Given the description of an element on the screen output the (x, y) to click on. 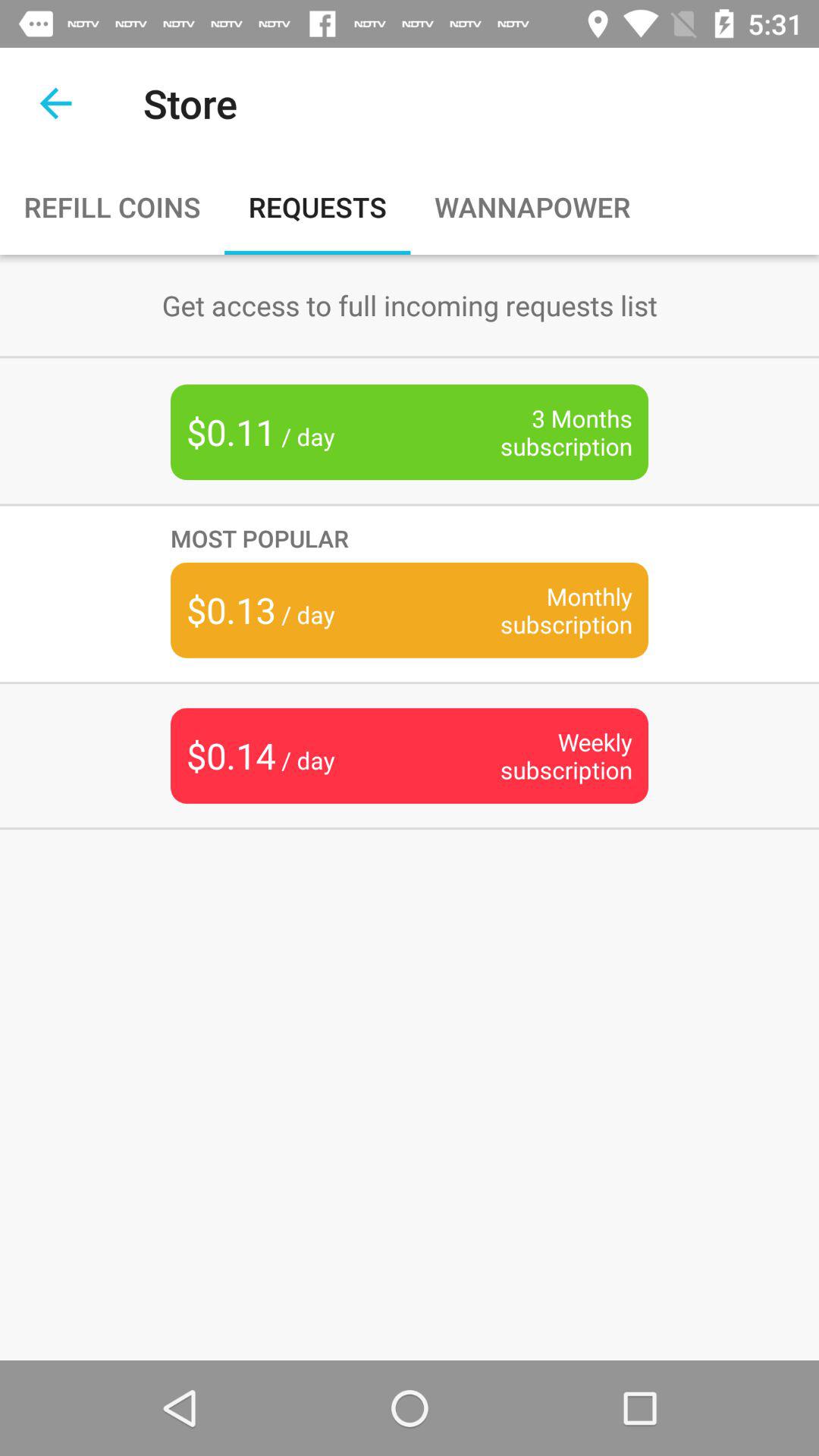
press item above the monthly subscription icon (409, 538)
